Given the description of an element on the screen output the (x, y) to click on. 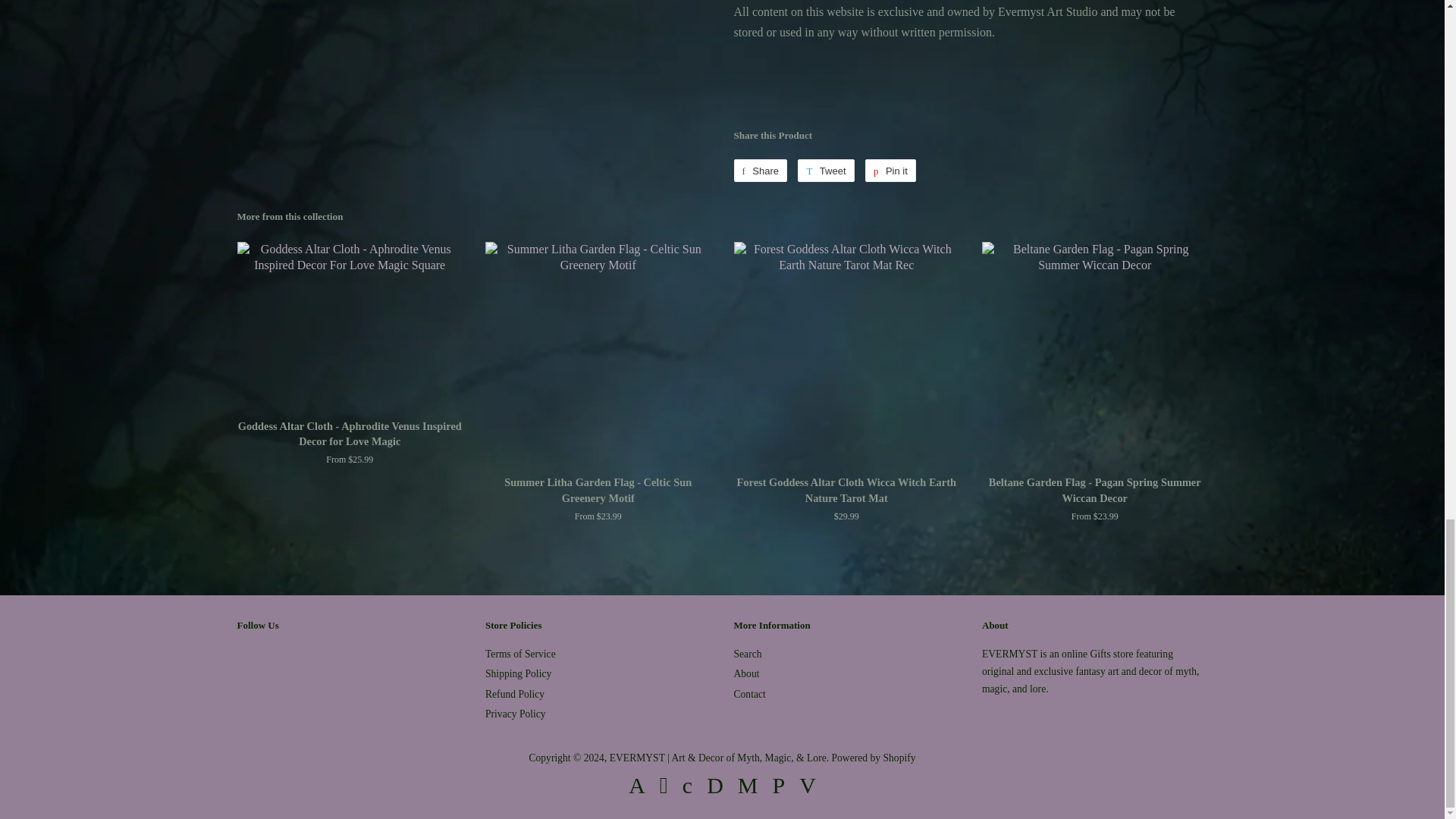
Pin on Pinterest (889, 169)
Share on Facebook (760, 169)
Tweet on Twitter (825, 169)
